Given the description of an element on the screen output the (x, y) to click on. 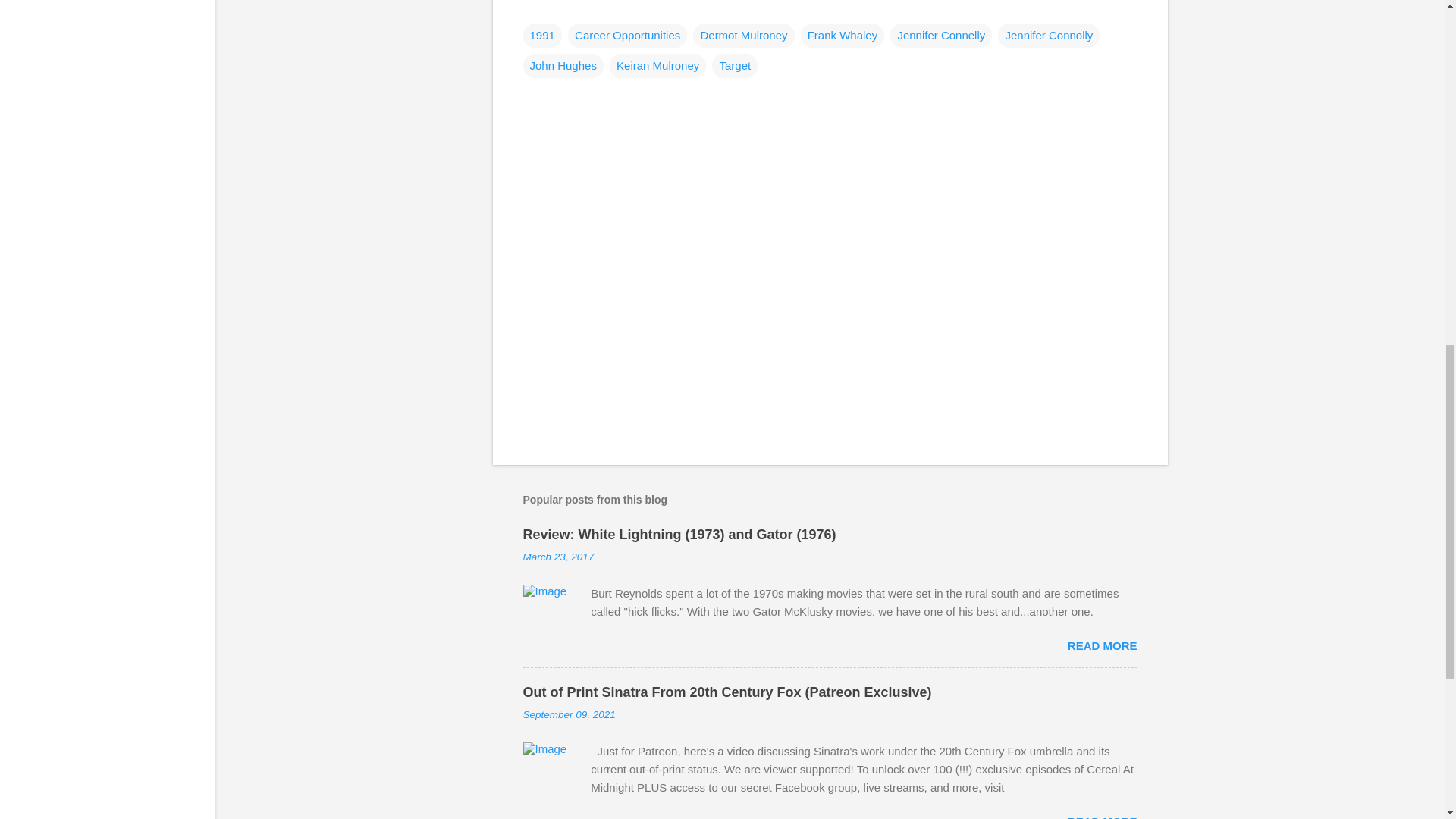
1991 (542, 34)
March 23, 2017 (558, 556)
Target (734, 64)
permanent link (558, 556)
Jennifer Connelly (940, 34)
Jennifer Connolly (1048, 34)
Frank Whaley (842, 34)
Dermot Mulroney (743, 34)
John Hughes (563, 64)
September 09, 2021 (568, 714)
Keiran Mulroney (658, 64)
READ MORE (1102, 816)
READ MORE (1102, 645)
Career Opportunities (627, 34)
